Given the description of an element on the screen output the (x, y) to click on. 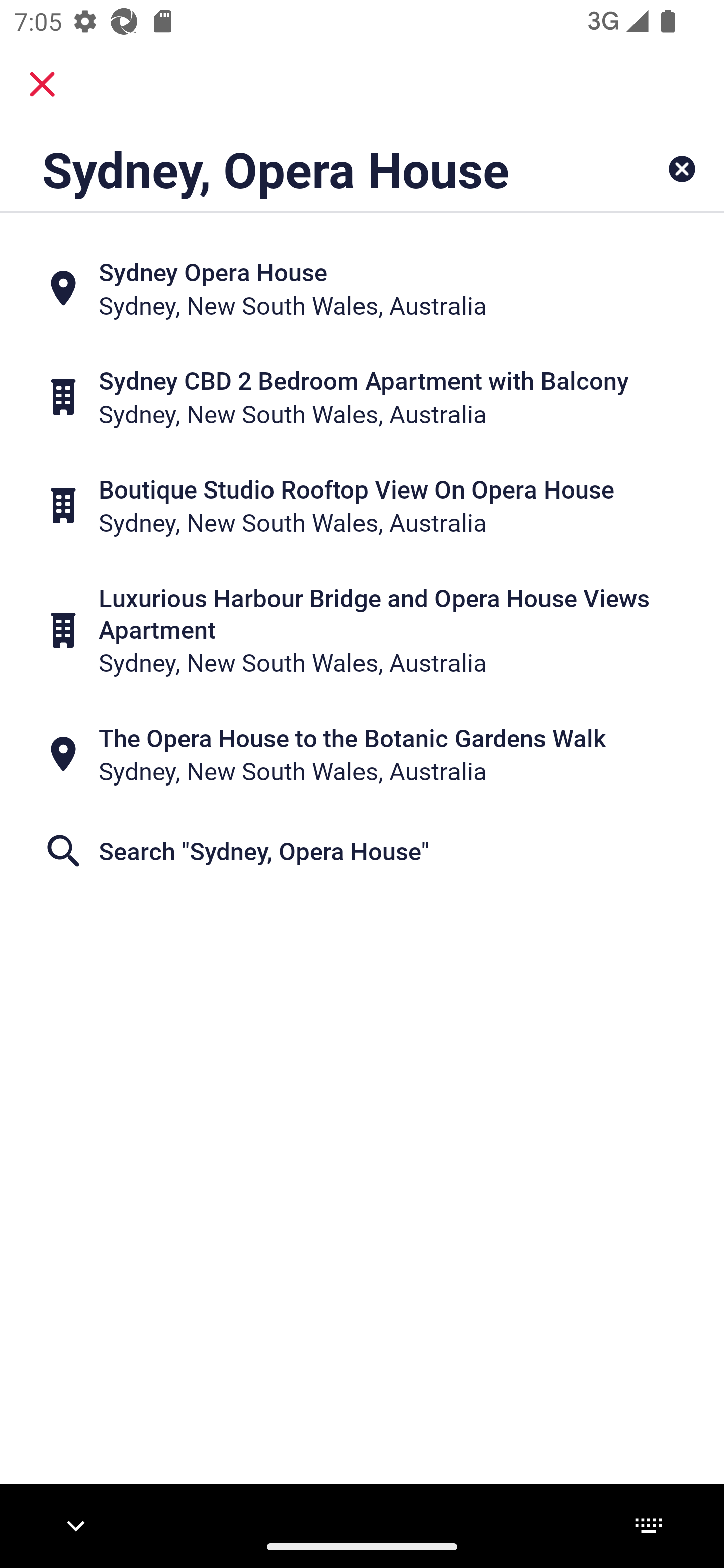
close. (42, 84)
Clear (681, 169)
Sydney, Opera House (298, 169)
Search "Sydney, Opera House" (361, 851)
